Given the description of an element on the screen output the (x, y) to click on. 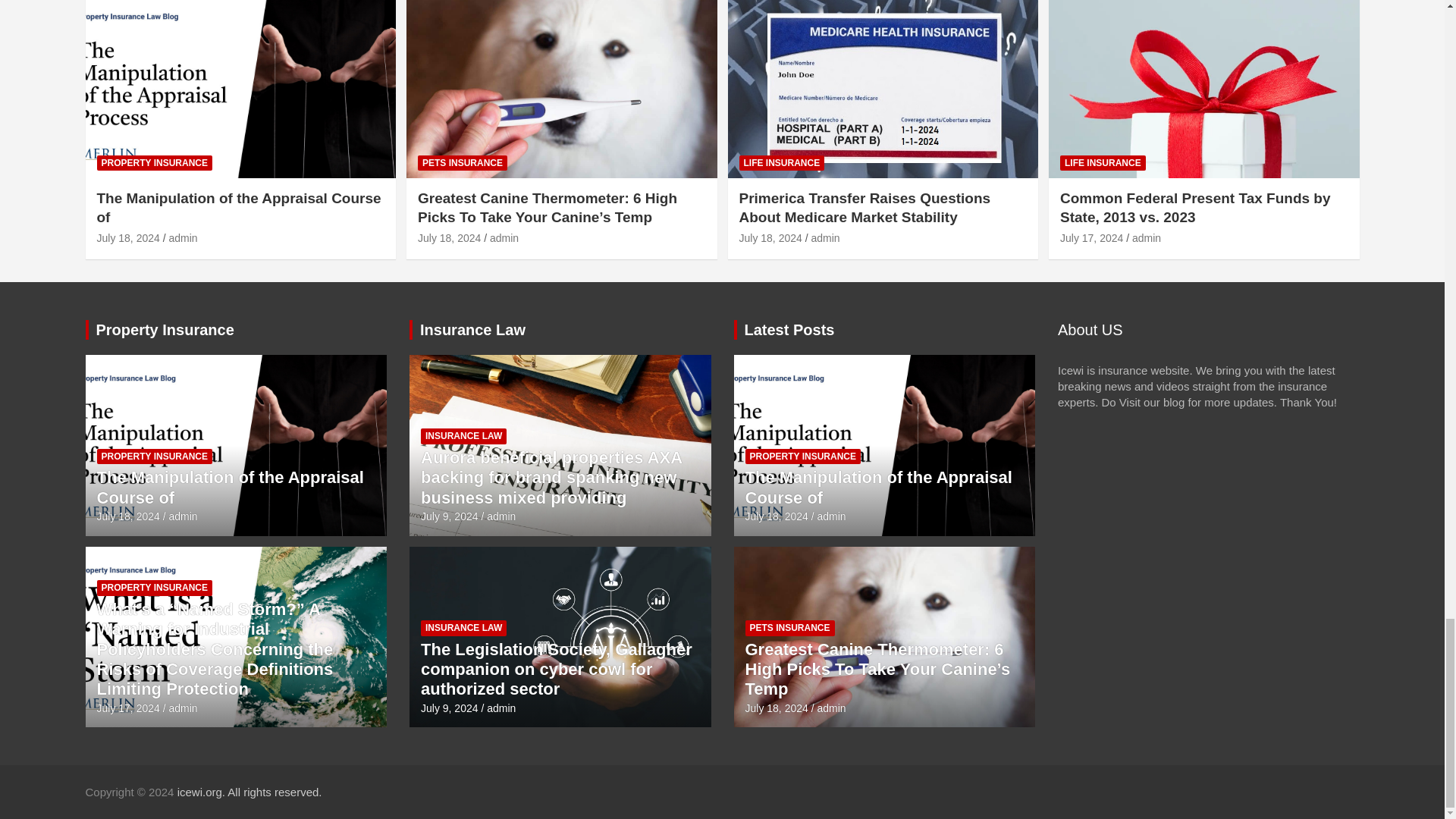
The Manipulation of the Appraisal Course of (128, 237)
The Manipulation of the Appraisal Course of (128, 516)
Common Federal Present Tax Funds by State, 2013 vs. 2023 (1090, 237)
